Given the description of an element on the screen output the (x, y) to click on. 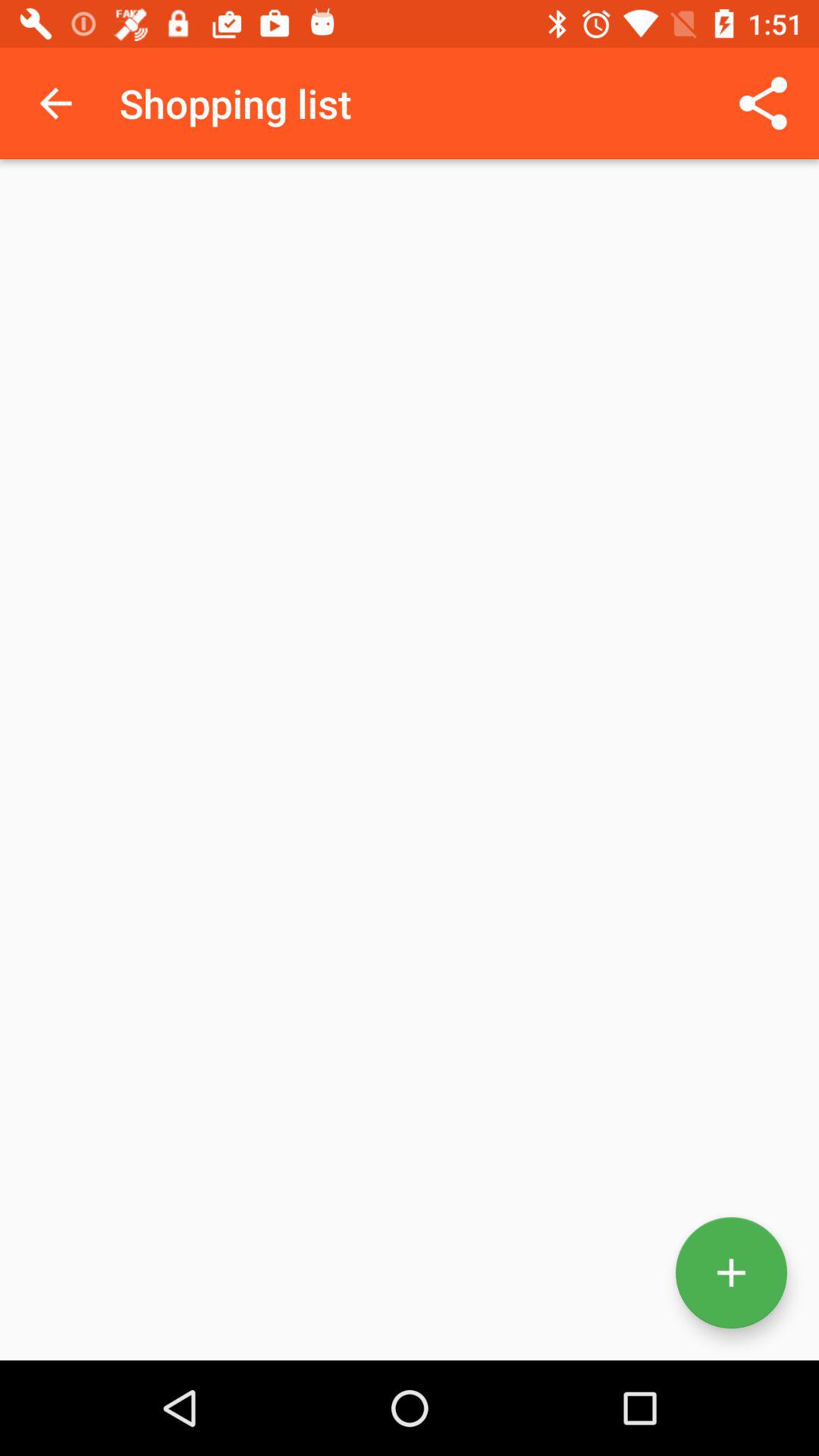
turn on the app to the left of the shopping list (55, 103)
